Given the description of an element on the screen output the (x, y) to click on. 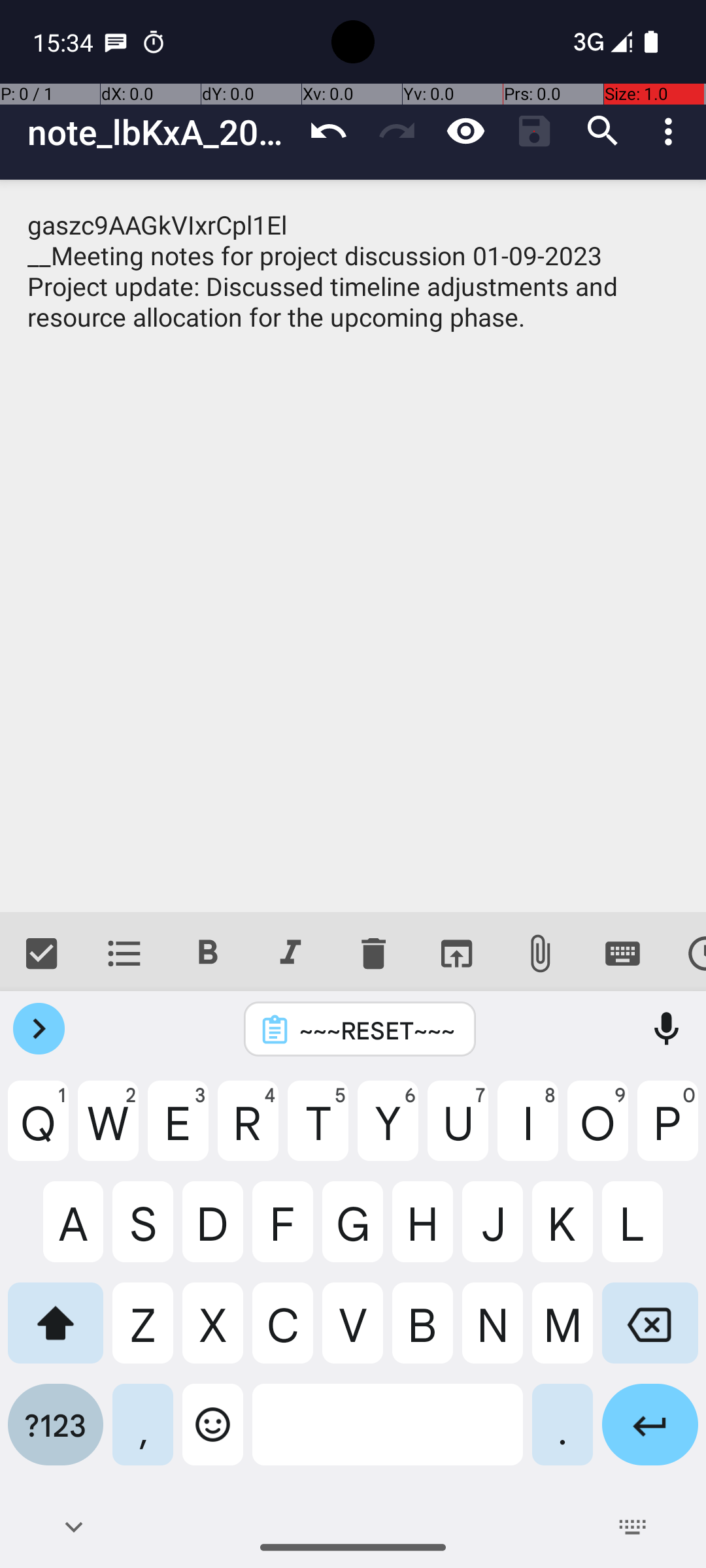
note_lbKxA_2023_01_09 Element type: android.widget.TextView (160, 131)
gaszc9AAGkVIxrCpl1El
__Meeting notes for project discussion 01-09-2023
Project update: Discussed timeline adjustments and resource allocation for the upcoming phase.
 Element type: android.widget.EditText (353, 545)
